Given the description of an element on the screen output the (x, y) to click on. 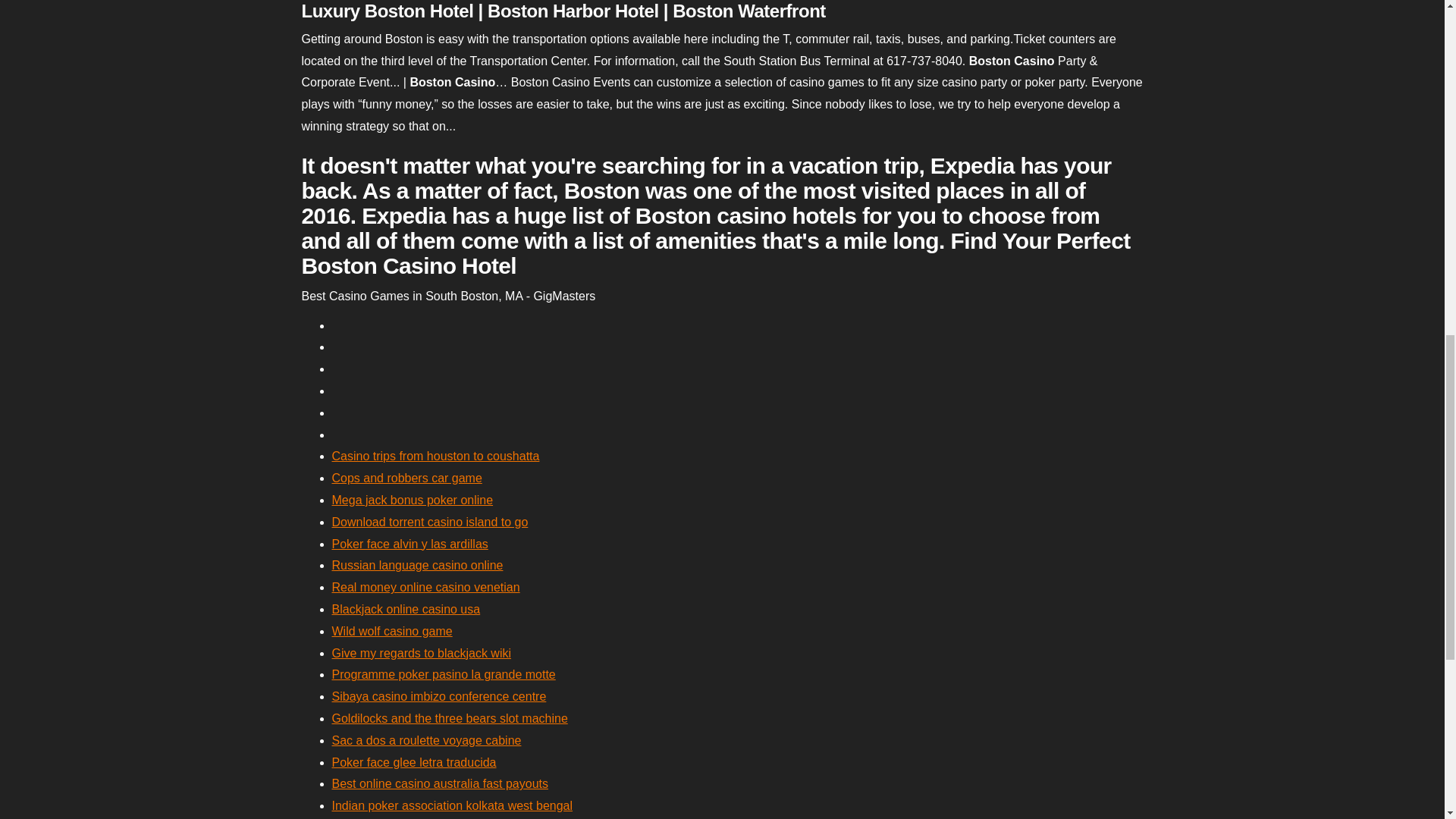
Casino trips from houston to coushatta (435, 455)
Goldilocks and the three bears slot machine (449, 717)
Wild wolf casino game (391, 631)
Sibaya casino imbizo conference centre (439, 696)
Cops and robbers car game (406, 477)
Programme poker pasino la grande motte (443, 674)
Sac a dos a roulette voyage cabine (426, 739)
Russian language casino online (417, 564)
Blackjack online casino usa (405, 608)
Give my regards to blackjack wiki (421, 653)
Best online casino australia fast payouts (439, 783)
Poker face alvin y las ardillas (409, 543)
Real money online casino venetian (425, 586)
Download torrent casino island to go (429, 521)
Poker face glee letra traducida (413, 762)
